Given the description of an element on the screen output the (x, y) to click on. 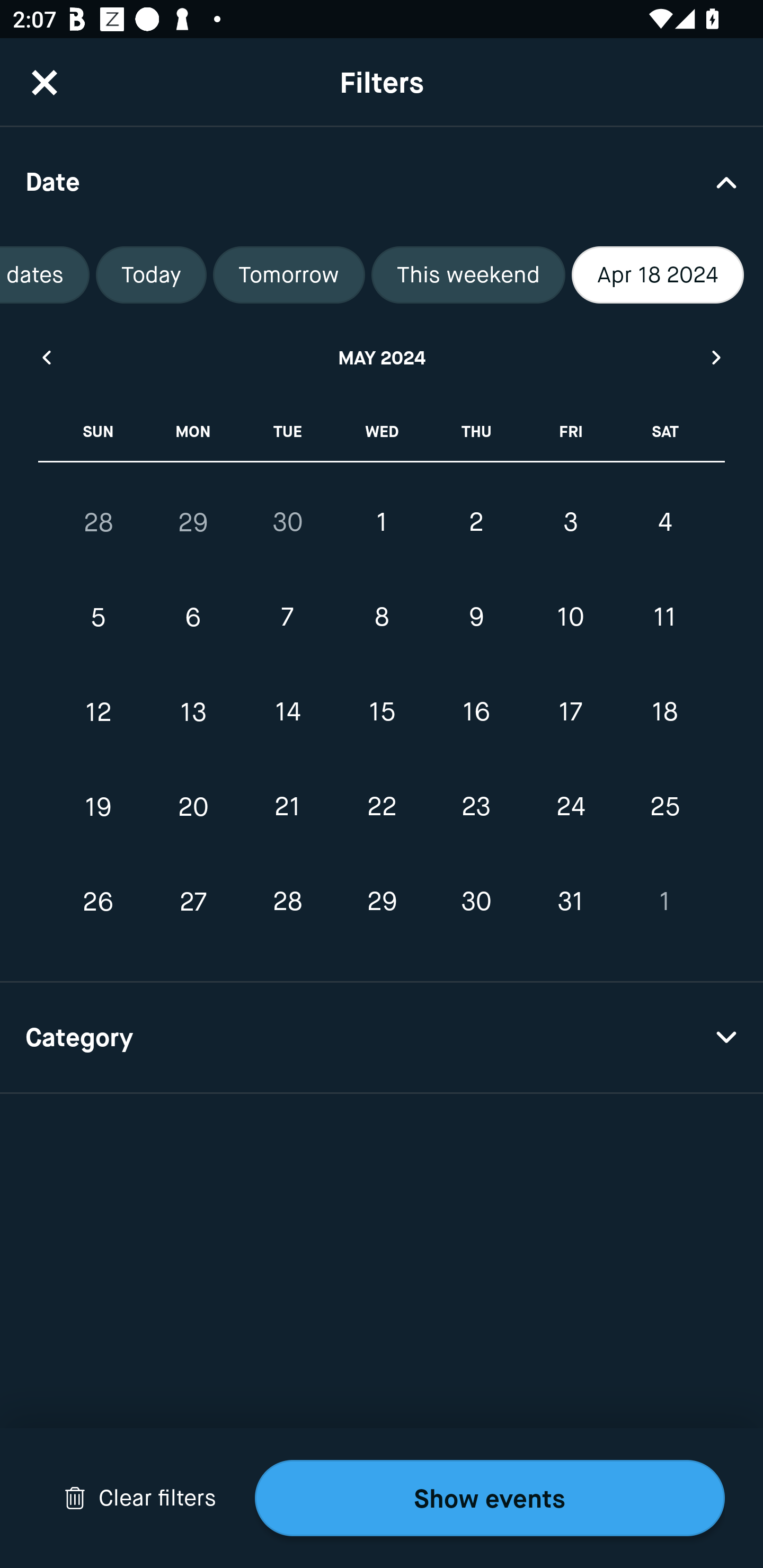
CloseButton (44, 82)
Date Drop Down Arrow (381, 181)
Today (151, 274)
Tomorrow (288, 274)
This weekend (468, 274)
Apr 18 2024 (657, 274)
Previous (45, 357)
Next (717, 357)
28 (98, 522)
29 (192, 522)
30 (287, 522)
1 (381, 522)
2 (475, 522)
3 (570, 522)
4 (664, 522)
5 (98, 617)
6 (192, 617)
7 (287, 617)
8 (381, 617)
9 (475, 617)
10 (570, 617)
11 (664, 617)
12 (98, 711)
13 (192, 711)
14 (287, 711)
15 (381, 711)
16 (475, 711)
17 (570, 711)
18 (664, 711)
19 (98, 806)
20 (192, 806)
21 (287, 806)
22 (381, 806)
23 (475, 806)
24 (570, 806)
25 (664, 806)
26 (98, 901)
27 (192, 901)
28 (287, 901)
29 (381, 901)
30 (475, 901)
31 (570, 901)
1 (664, 901)
Category Drop Down Arrow (381, 1038)
Drop Down Arrow Clear filters (139, 1497)
Show events (489, 1497)
